Given the description of an element on the screen output the (x, y) to click on. 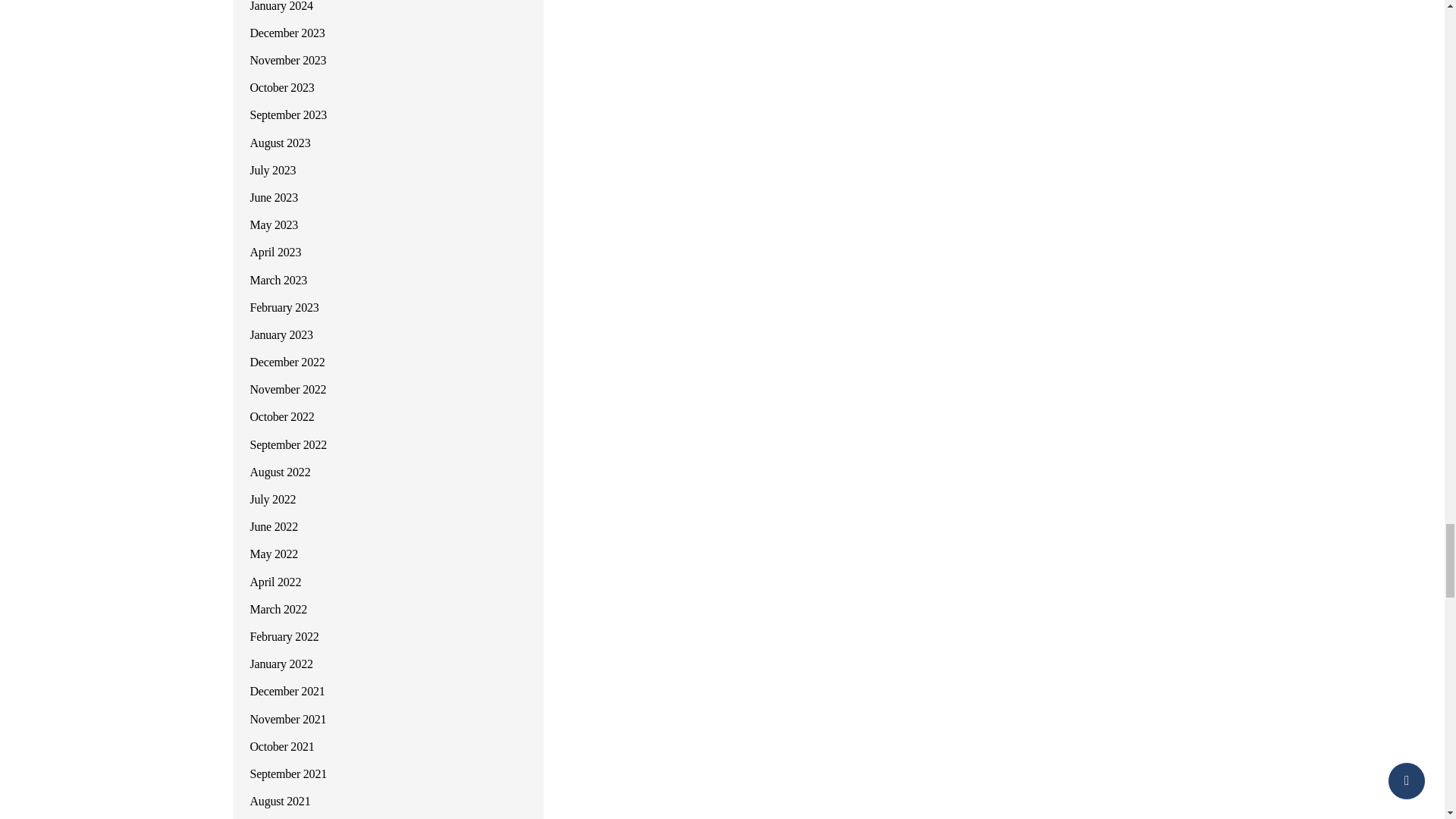
October 2022 (282, 416)
August 2023 (280, 142)
March 2023 (278, 279)
July 2023 (273, 169)
December 2023 (287, 32)
November 2022 (288, 389)
July 2022 (273, 499)
June 2022 (274, 526)
September 2022 (288, 444)
June 2023 (274, 196)
November 2023 (288, 60)
May 2022 (274, 553)
May 2023 (274, 224)
September 2023 (288, 114)
April 2023 (275, 251)
